Given the description of an element on the screen output the (x, y) to click on. 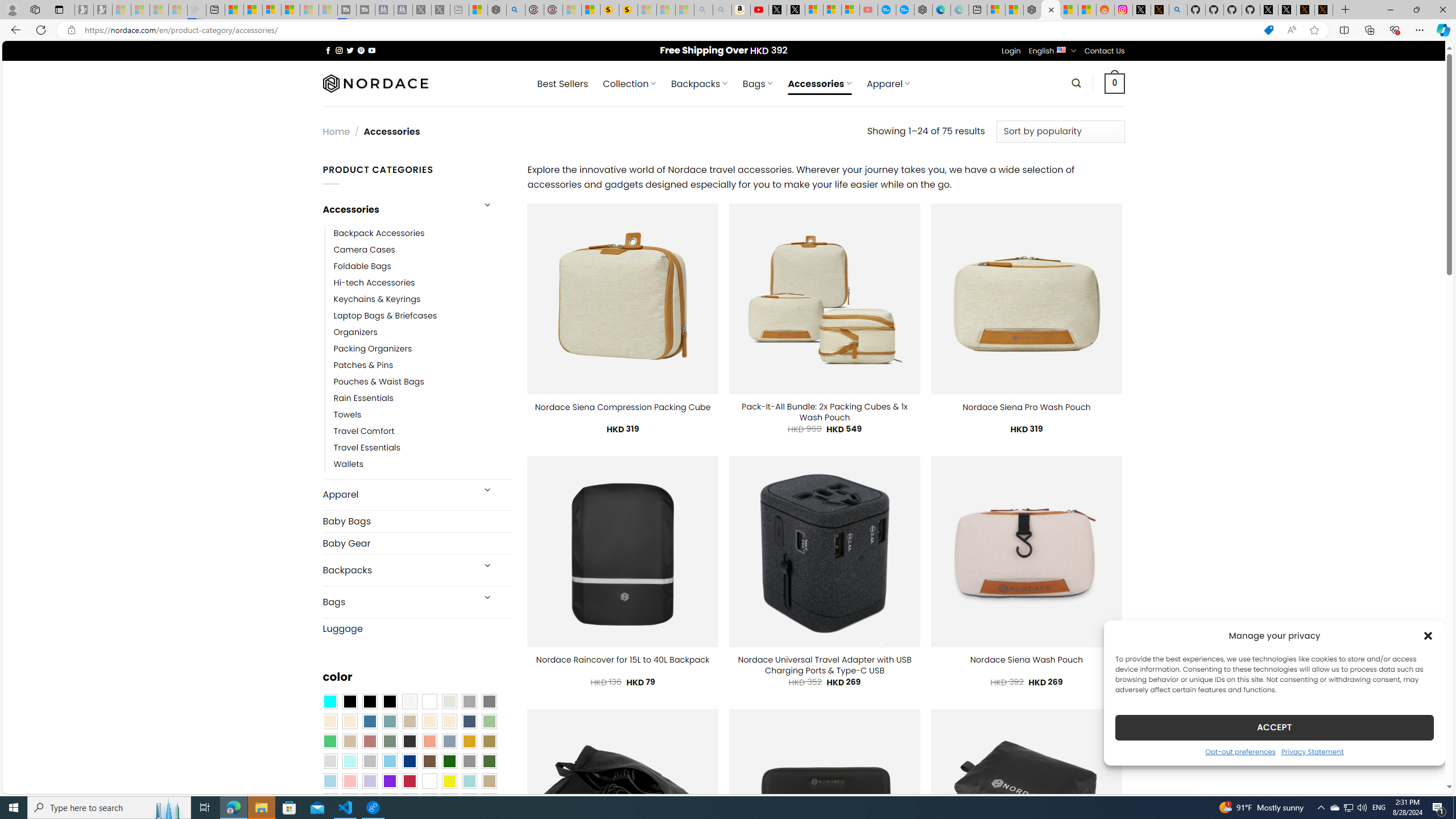
Nordace Siena Compression Packing Cube (622, 406)
Purple (389, 780)
Black-Brown (389, 701)
Microsoft Start - Sleeping (309, 9)
Silver (369, 761)
Pack-It-All Bundle: 2x Packing Cubes & 1x Wash Pouch (824, 412)
Caramel (429, 721)
Red (408, 780)
ACCEPT (1274, 727)
